Given the description of an element on the screen output the (x, y) to click on. 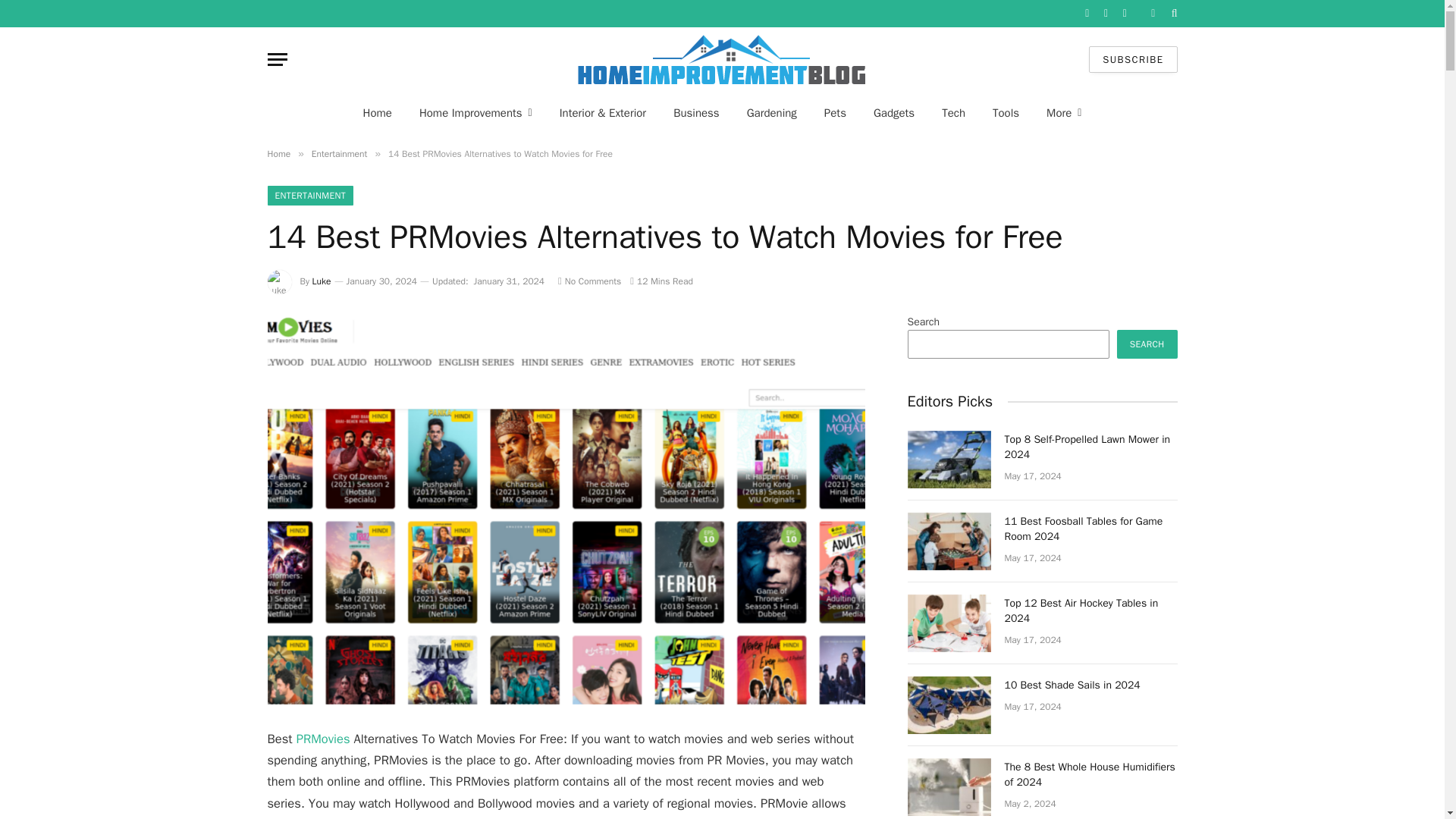
Posts by Luke (322, 281)
Home Improvement Blog (722, 59)
Switch to Dark Design - easier on eyes. (1152, 13)
